Given the description of an element on the screen output the (x, y) to click on. 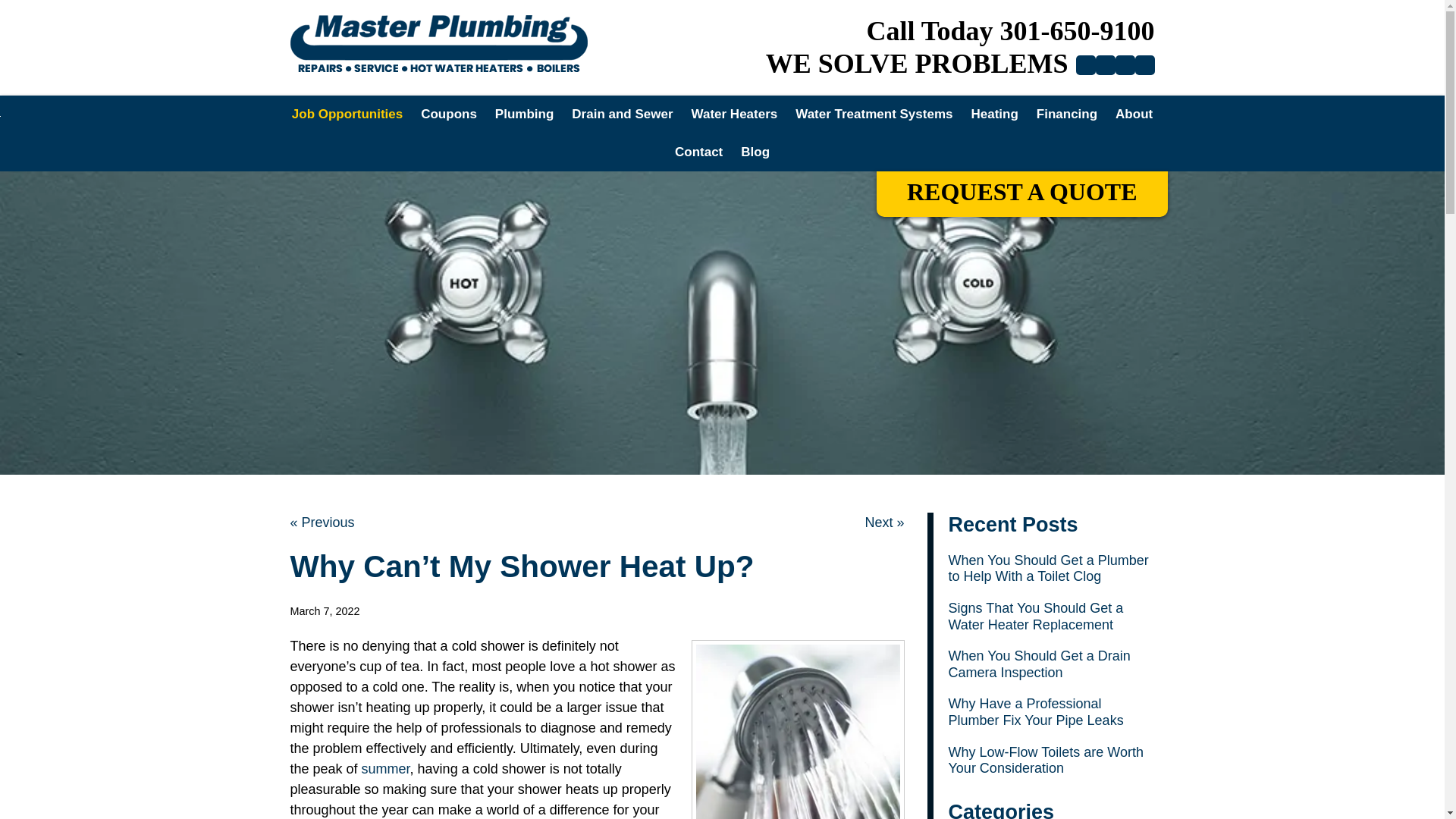
Master Plumbing (437, 45)
Drain and Sewer (621, 114)
Job Opportunities (347, 114)
Heating (993, 114)
Coupons (449, 114)
Plumbing (524, 114)
Call Today 301-650-9100 (1010, 30)
Water Treatment Systems (873, 114)
Water Heaters (734, 114)
master plumbing shower heat up (797, 731)
